Given the description of an element on the screen output the (x, y) to click on. 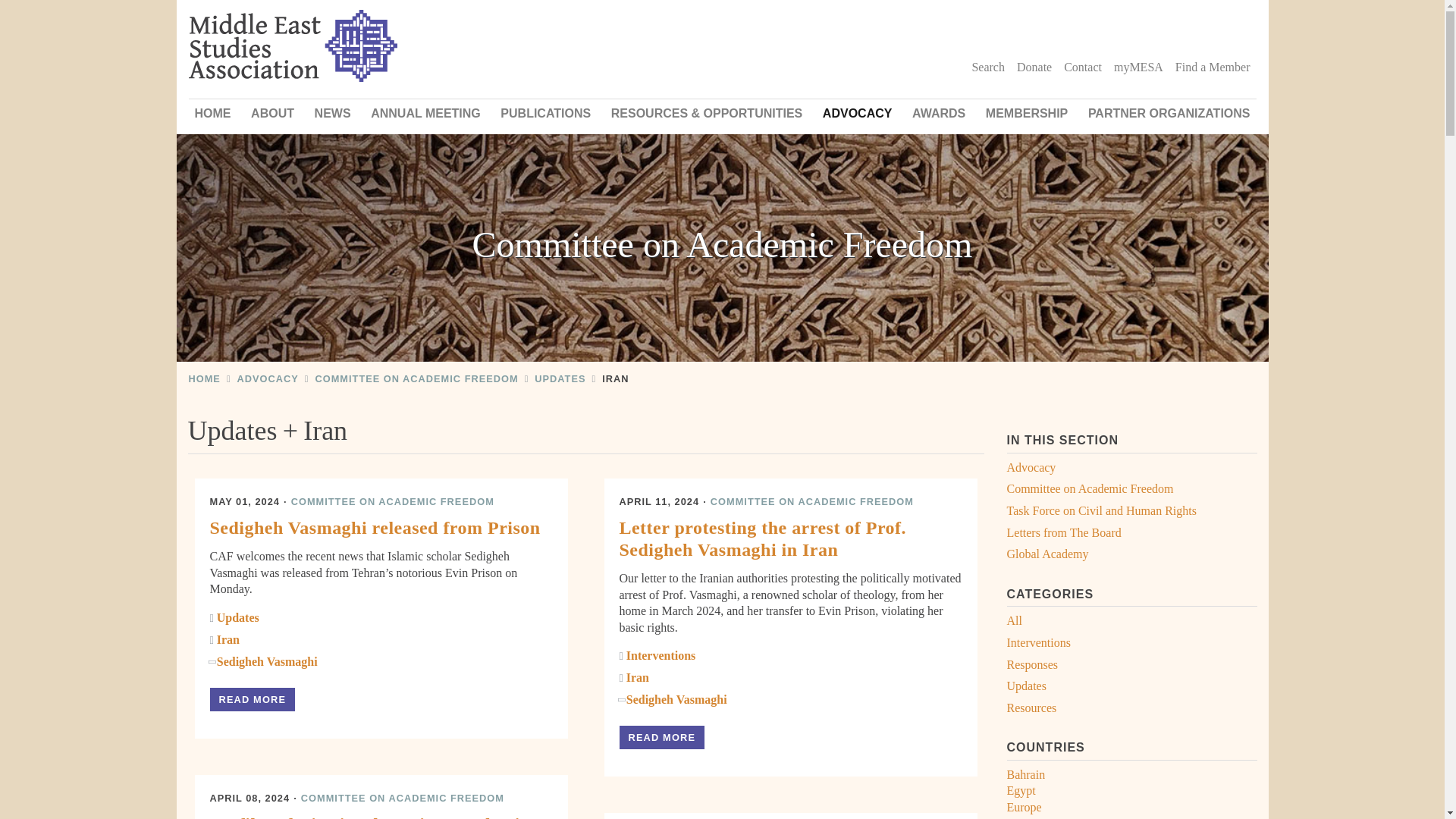
Sedigheh Vasmaghi released from Prison (252, 699)
ABOUT (271, 113)
HOME (211, 113)
NEWS (332, 113)
Find a Member (1212, 67)
myMESA (1138, 67)
Contact (1083, 67)
Donate (1034, 67)
ANNUAL MEETING (425, 113)
